Given the description of an element on the screen output the (x, y) to click on. 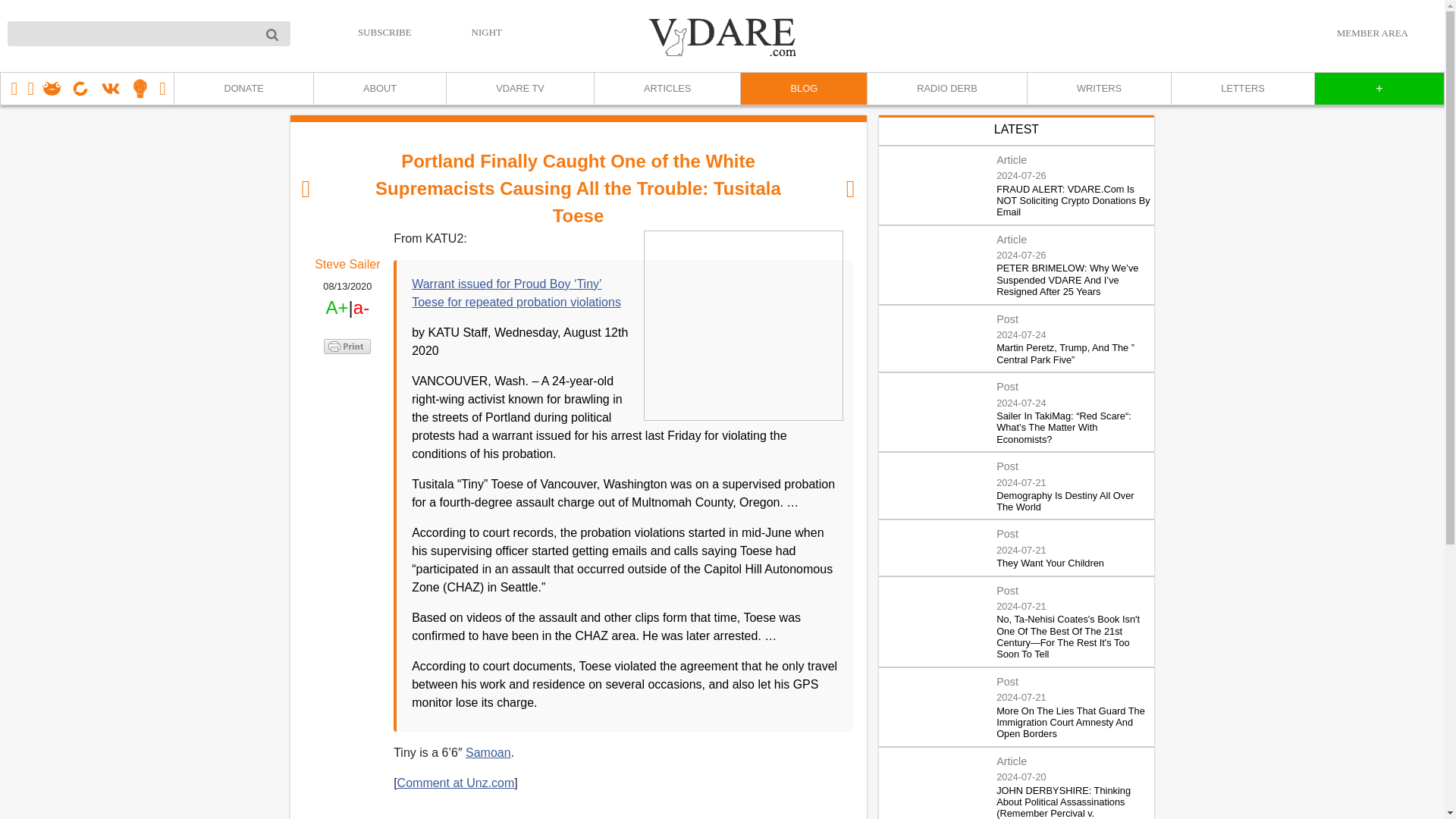
LETTERS (1242, 88)
Printer Friendly and PDF (347, 345)
Share to Twitter (347, 386)
ABOUT (379, 88)
Share to Email (347, 431)
MEMBER AREA (1371, 32)
BLOG (802, 88)
WRITERS (1098, 88)
ARTICLES (666, 88)
SUBSCRIBE (385, 31)
RADIO DERB (946, 88)
DONATE (243, 88)
VDARE TV (519, 88)
